Given the description of an element on the screen output the (x, y) to click on. 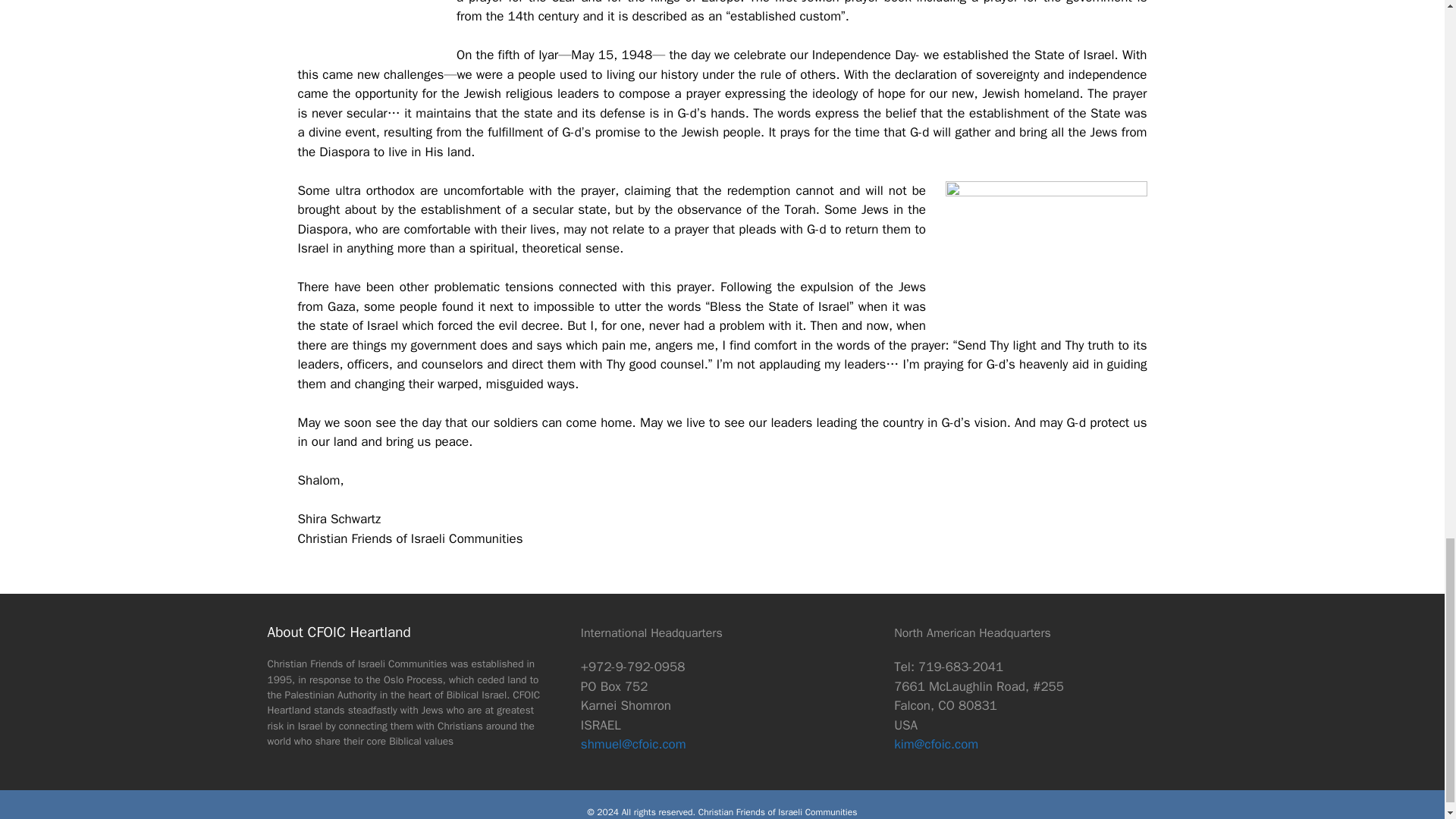
Orthodox men (1045, 252)
